Given the description of an element on the screen output the (x, y) to click on. 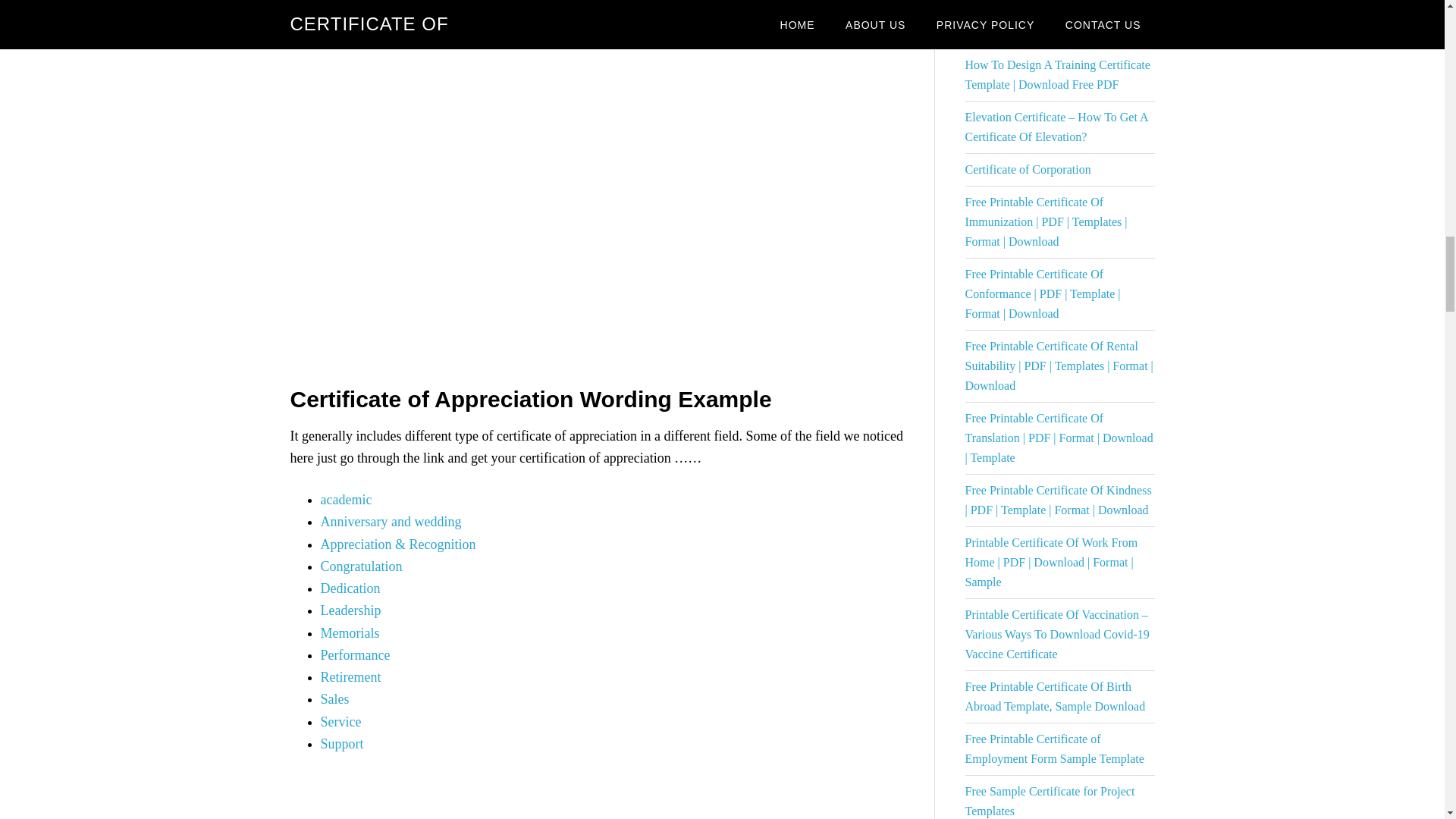
Memorials (349, 632)
Congratulation (360, 566)
Performance (355, 654)
Anniversary and wedding (390, 521)
Dedication (350, 588)
Service (340, 721)
Support (341, 743)
Retirement (350, 676)
Leadership (350, 610)
academic (345, 499)
Sales (334, 698)
